Given the description of an element on the screen output the (x, y) to click on. 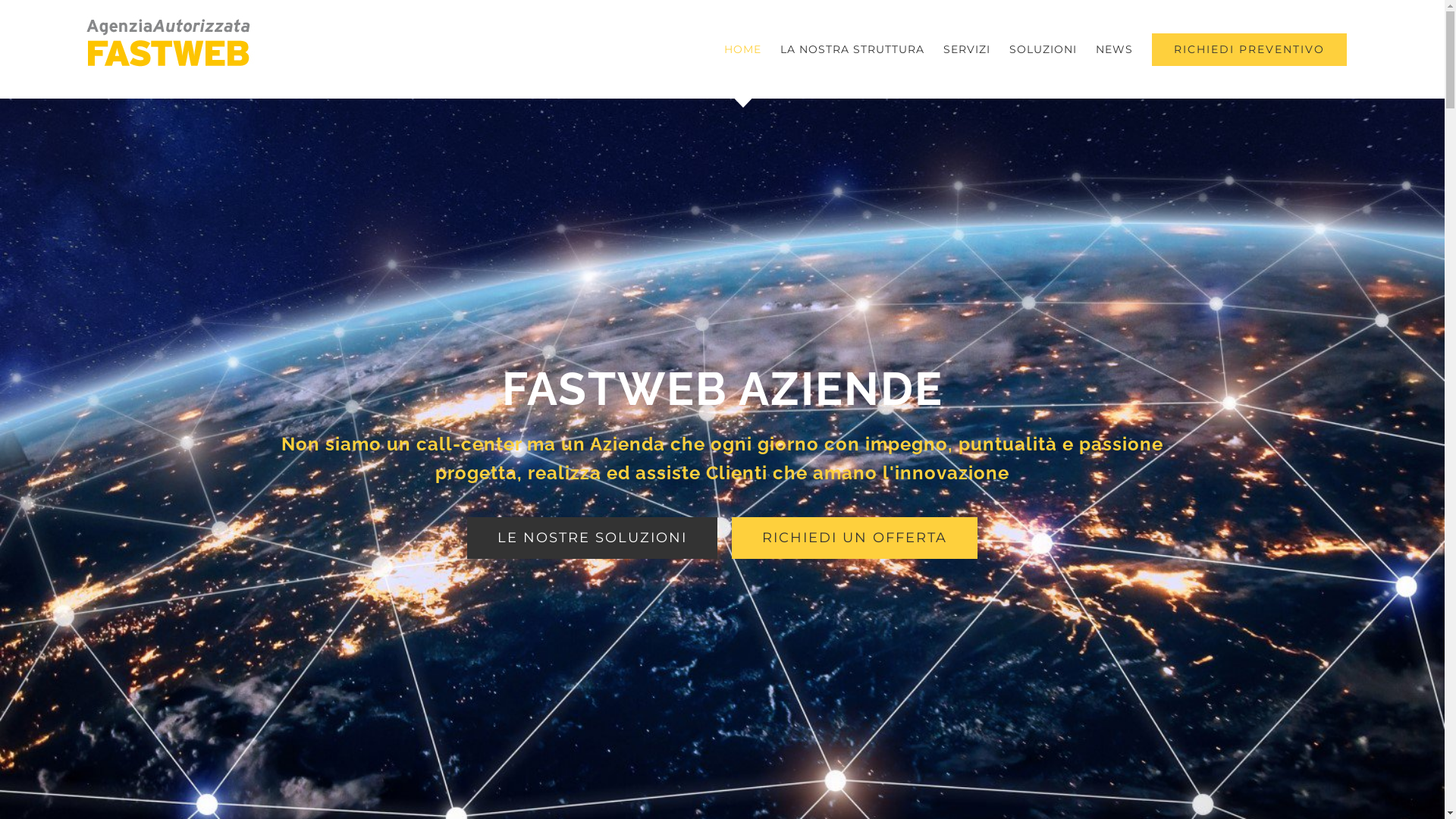
SERVIZI Element type: text (966, 49)
RICHIEDI UN OFFERTA Element type: text (854, 537)
LA NOSTRA STRUTTURA Element type: text (852, 49)
HOME Element type: text (742, 49)
SOLUZIONI Element type: text (1042, 49)
RICHIEDI PREVENTIVO Element type: text (1248, 49)
NEWS Element type: text (1113, 49)
LE NOSTRE SOLUZIONI Element type: text (592, 537)
